Given the description of an element on the screen output the (x, y) to click on. 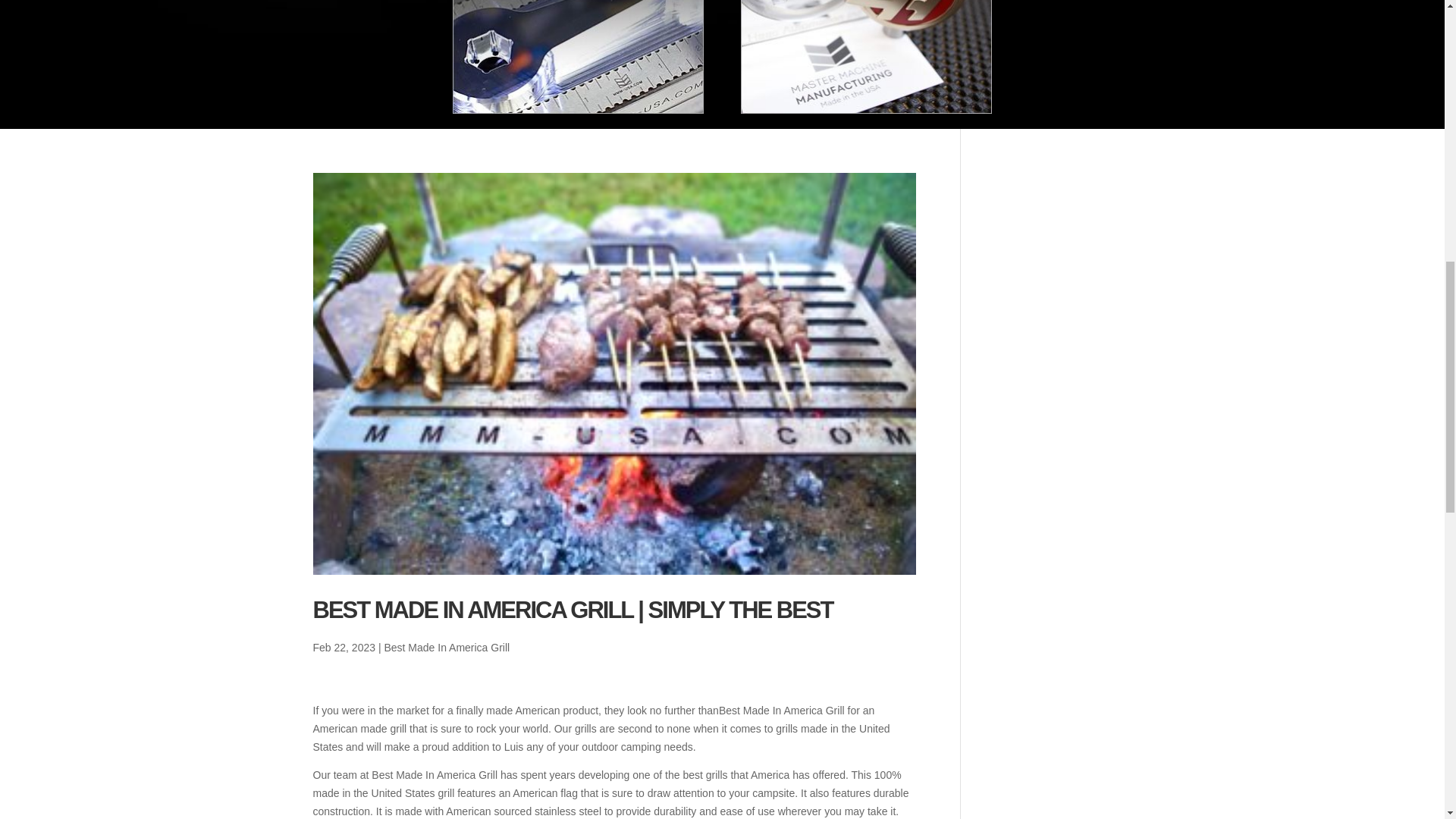
Best Made In America Grill (446, 647)
